Given the description of an element on the screen output the (x, y) to click on. 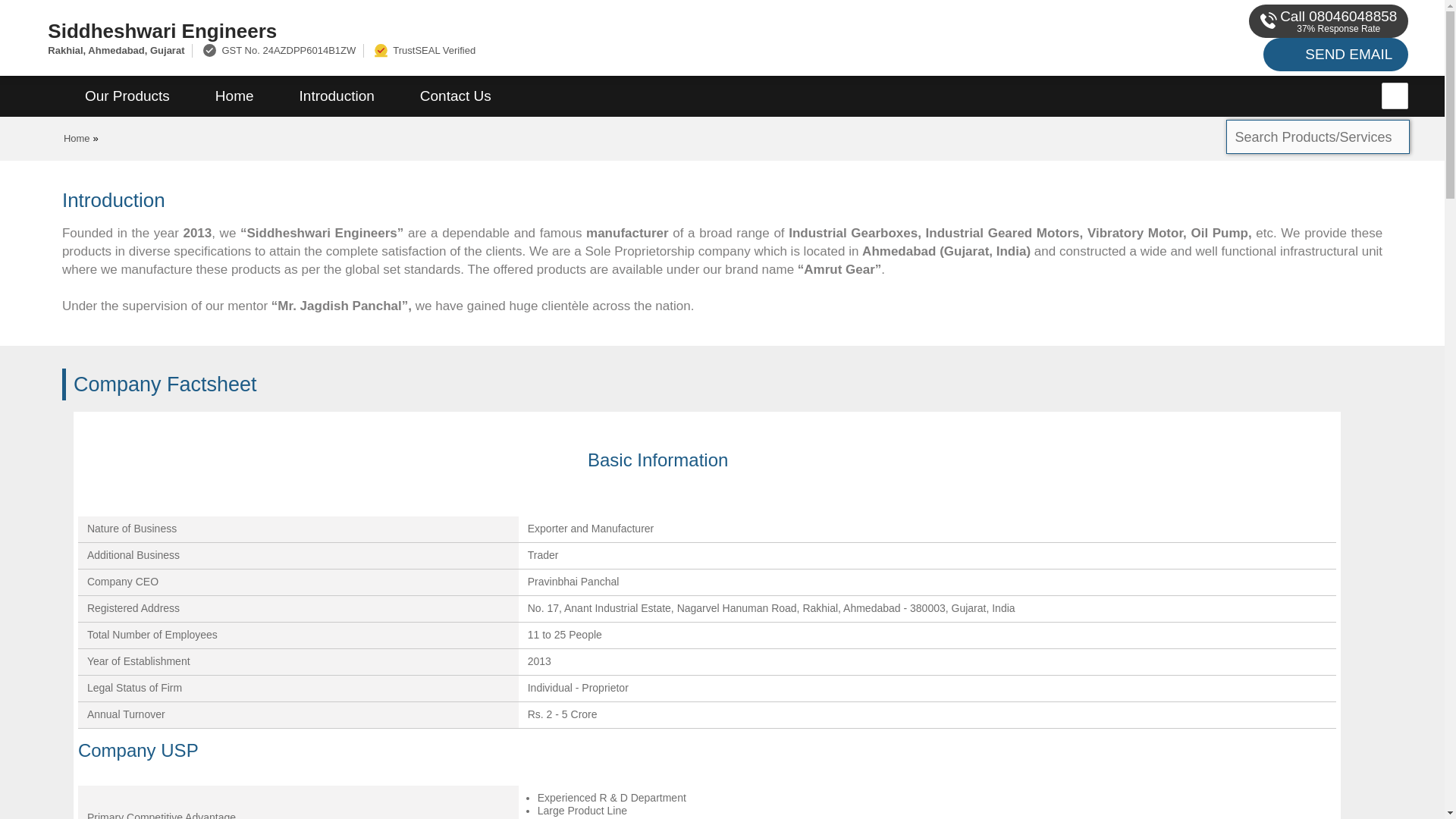
Contact Us (455, 96)
Siddheshwari Engineers (485, 31)
Home (77, 138)
Home (234, 96)
Introduction (336, 96)
Our Products (127, 96)
